Given the description of an element on the screen output the (x, y) to click on. 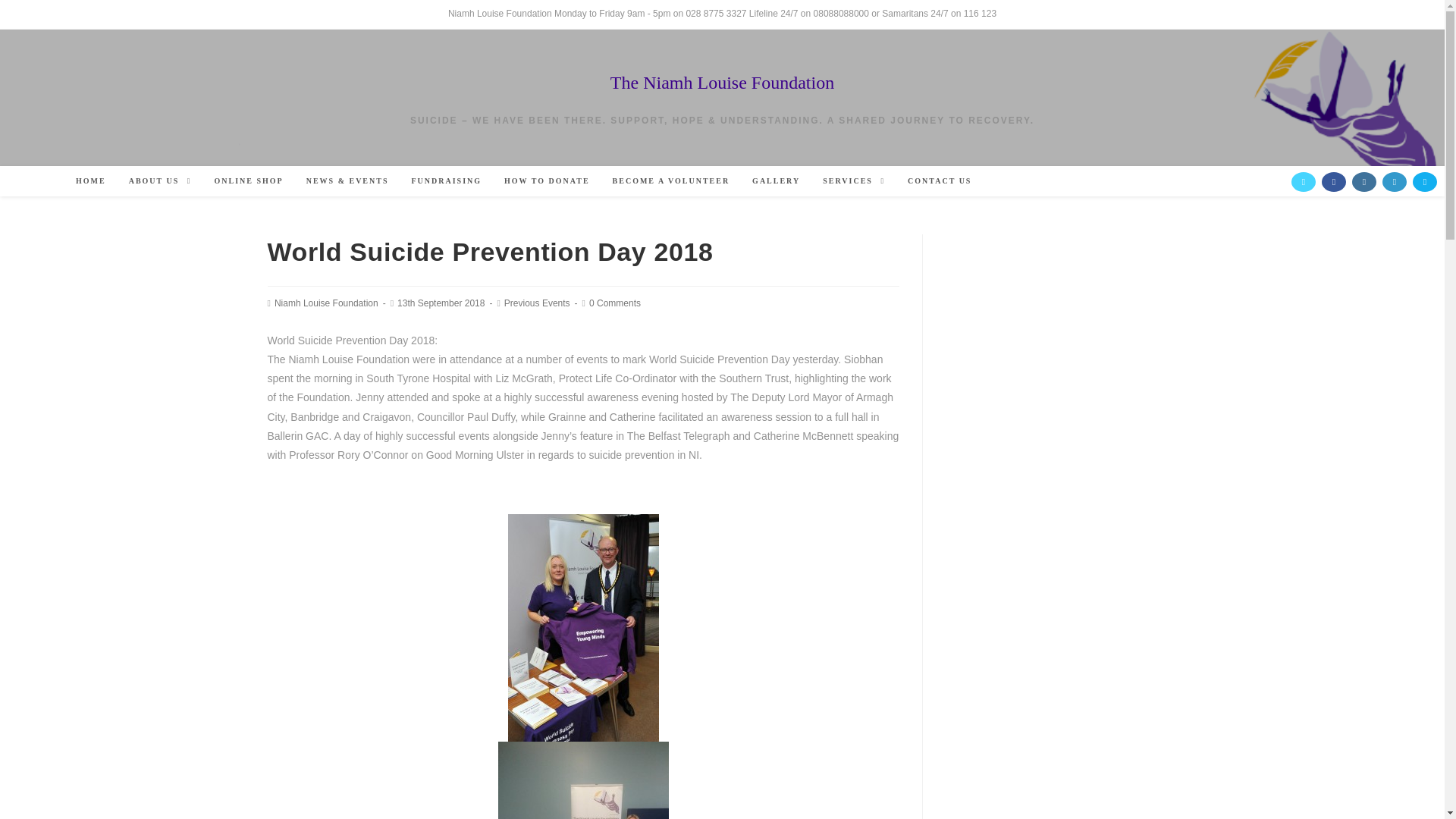
SERVICES (853, 181)
Previous Events (536, 303)
CONTACT US (939, 181)
0 Comments (614, 303)
ONLINE SHOP (249, 181)
Niamh Louise Foundation (326, 303)
The Niamh Louise Foundation (722, 82)
BECOME A VOLUNTEER (671, 181)
HOME (90, 181)
Posts by Niamh Louise Foundation (326, 303)
GALLERY (775, 181)
HOW TO DONATE (547, 181)
FUNDRAISING (446, 181)
ABOUT US (160, 181)
